Given the description of an element on the screen output the (x, y) to click on. 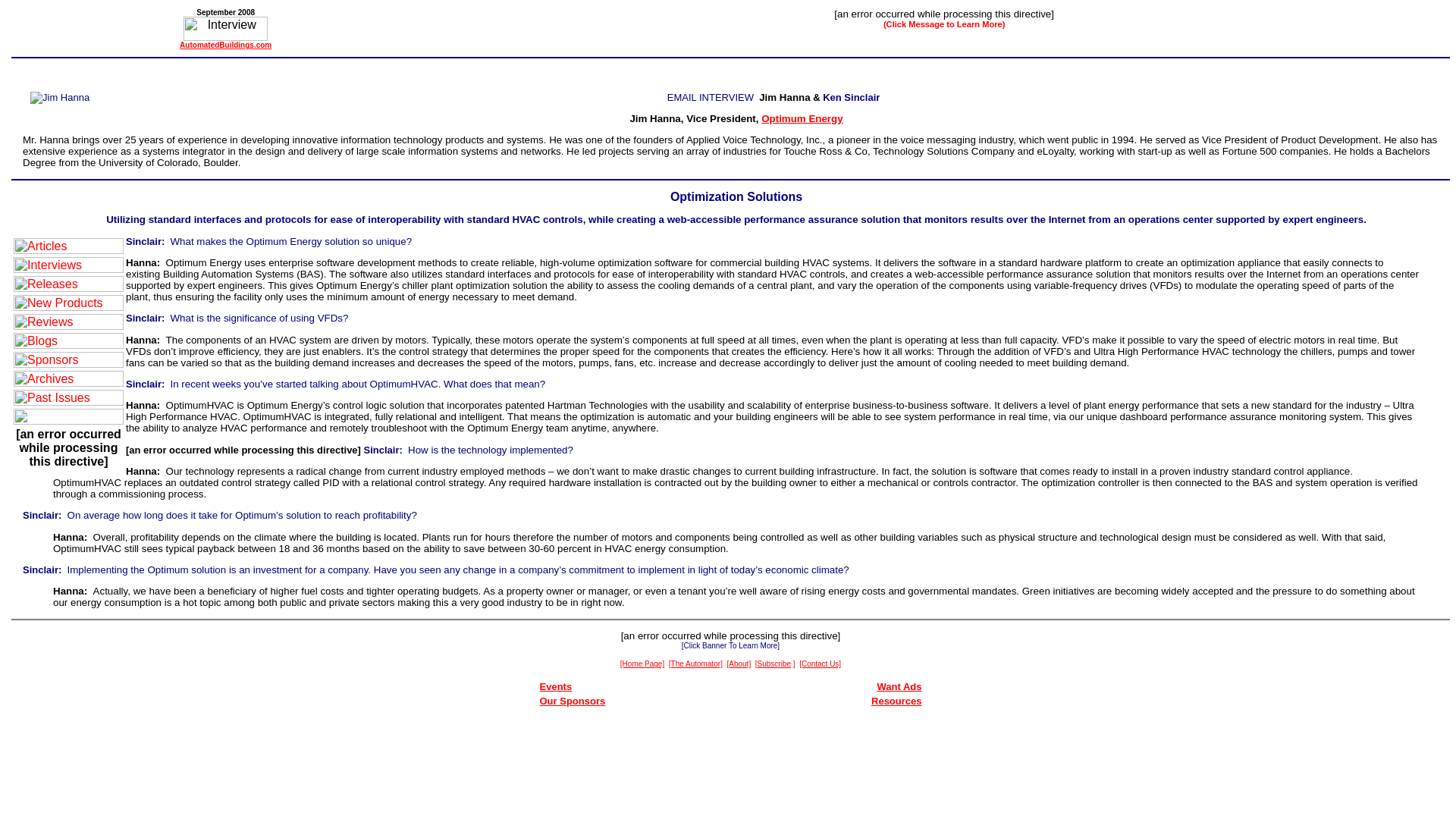
Want Ads (899, 686)
Subscribe (773, 663)
AutomatedBuildings.com (224, 44)
Events (556, 686)
Our Sponsors (572, 700)
Optimum Energy (802, 118)
Resources (895, 700)
